Given the description of an element on the screen output the (x, y) to click on. 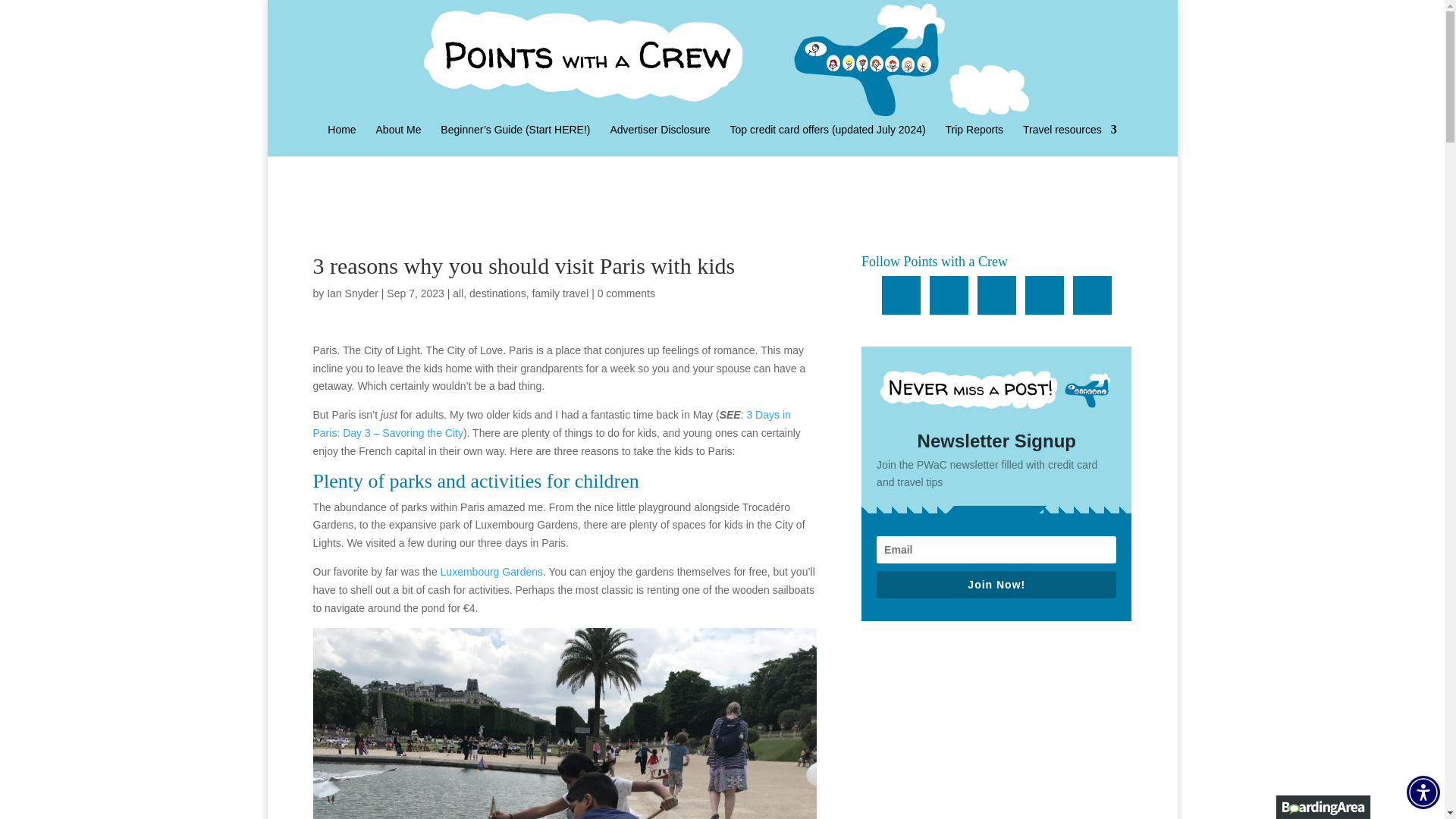
Travel resources (1069, 140)
Luxembourg Gardens (492, 571)
0 comments (625, 293)
Ian Snyder (352, 293)
Advertiser Disclosure (660, 140)
family travel (560, 293)
destinations (496, 293)
Posts by Ian Snyder (352, 293)
Accessibility Menu (1422, 792)
About Me (398, 140)
Trip Reports (974, 140)
